Given the description of an element on the screen output the (x, y) to click on. 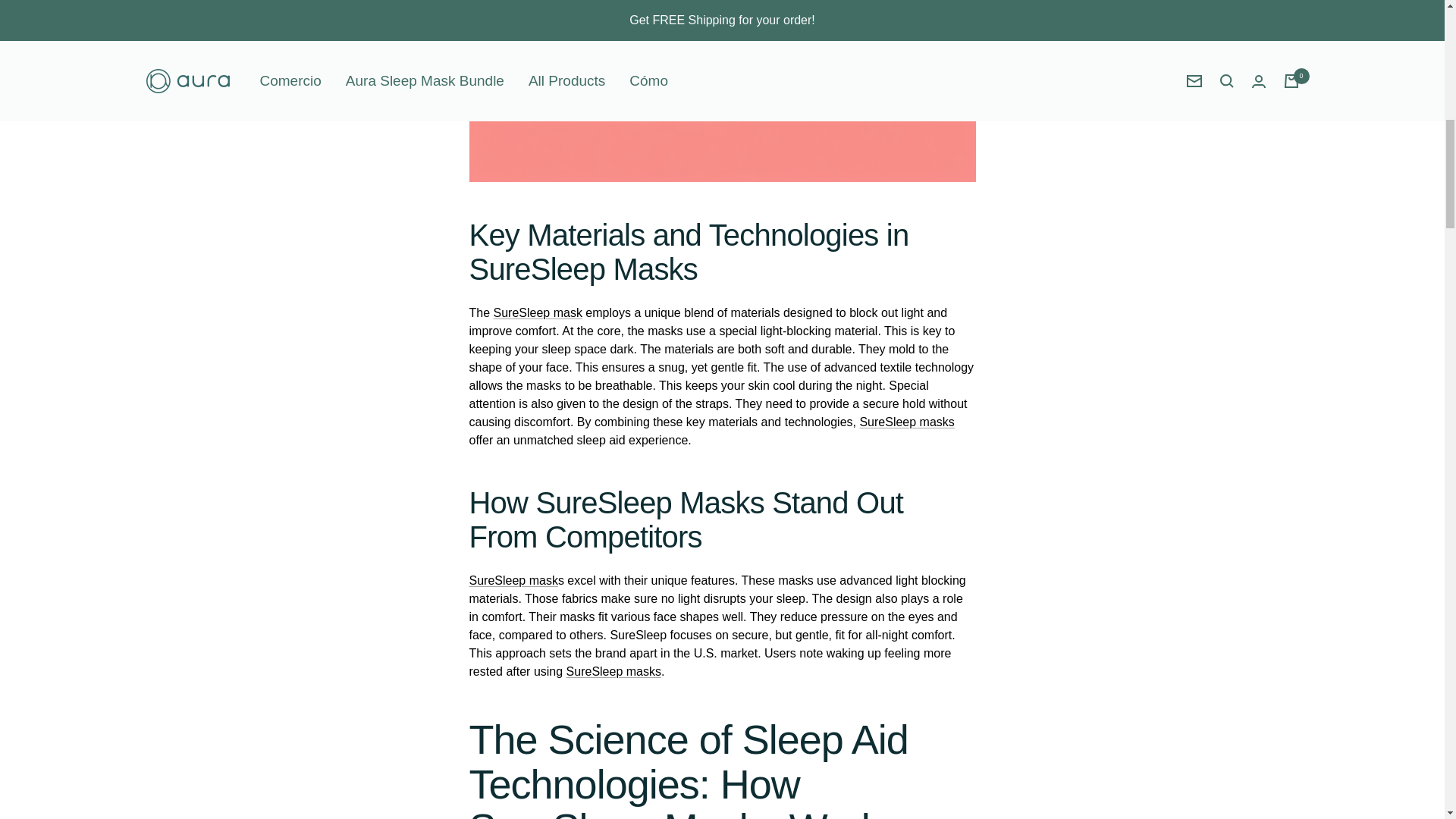
SureSleep masks (906, 421)
SureSleep mask (512, 580)
SureSleep mask (537, 312)
SureSleep masks (613, 671)
